Given the description of an element on the screen output the (x, y) to click on. 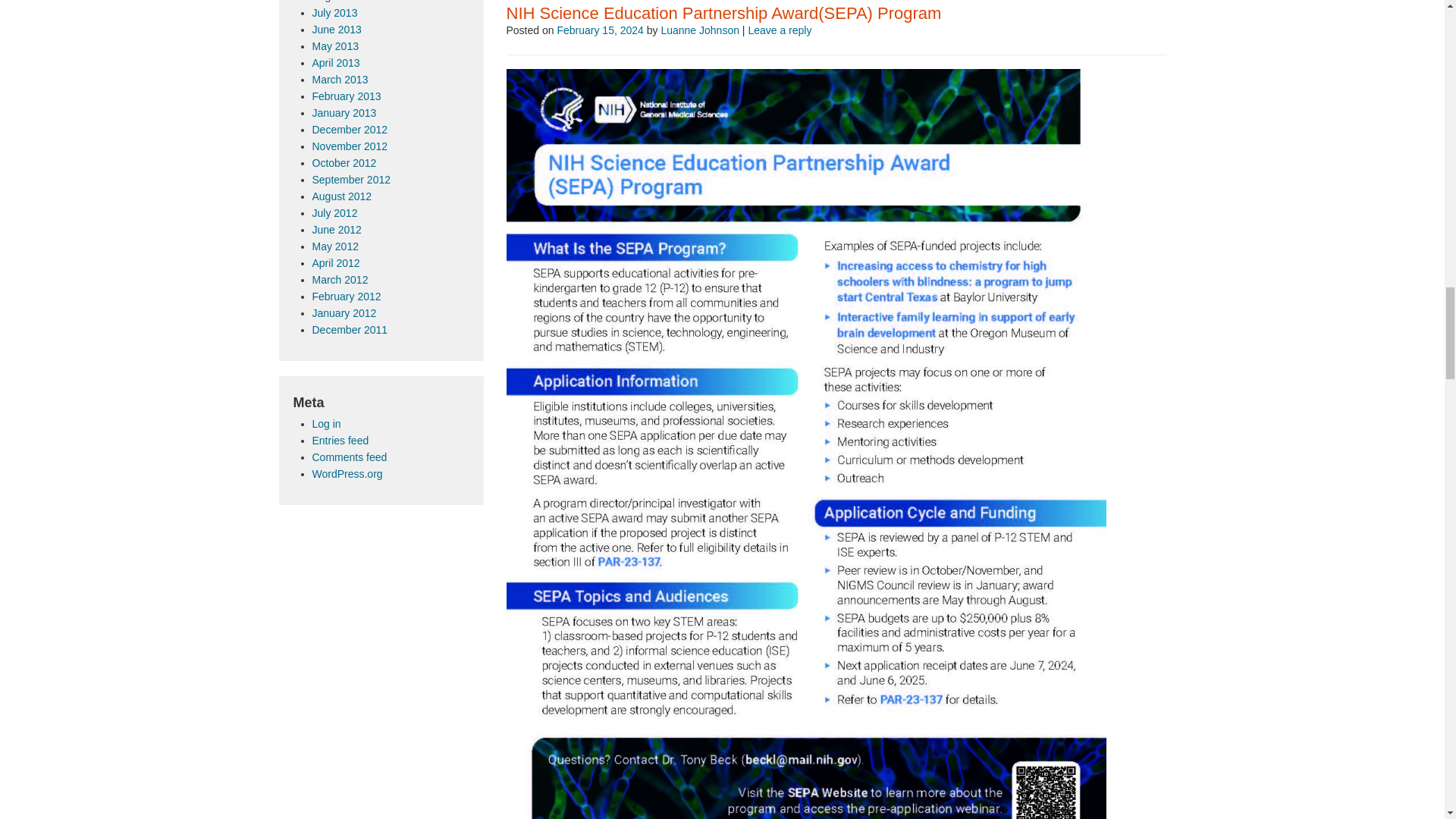
View all posts by Luanne Johnson (700, 30)
2:48 pm (599, 30)
Leave a reply (779, 30)
Luanne Johnson (700, 30)
February 15, 2024 (599, 30)
